Given the description of an element on the screen output the (x, y) to click on. 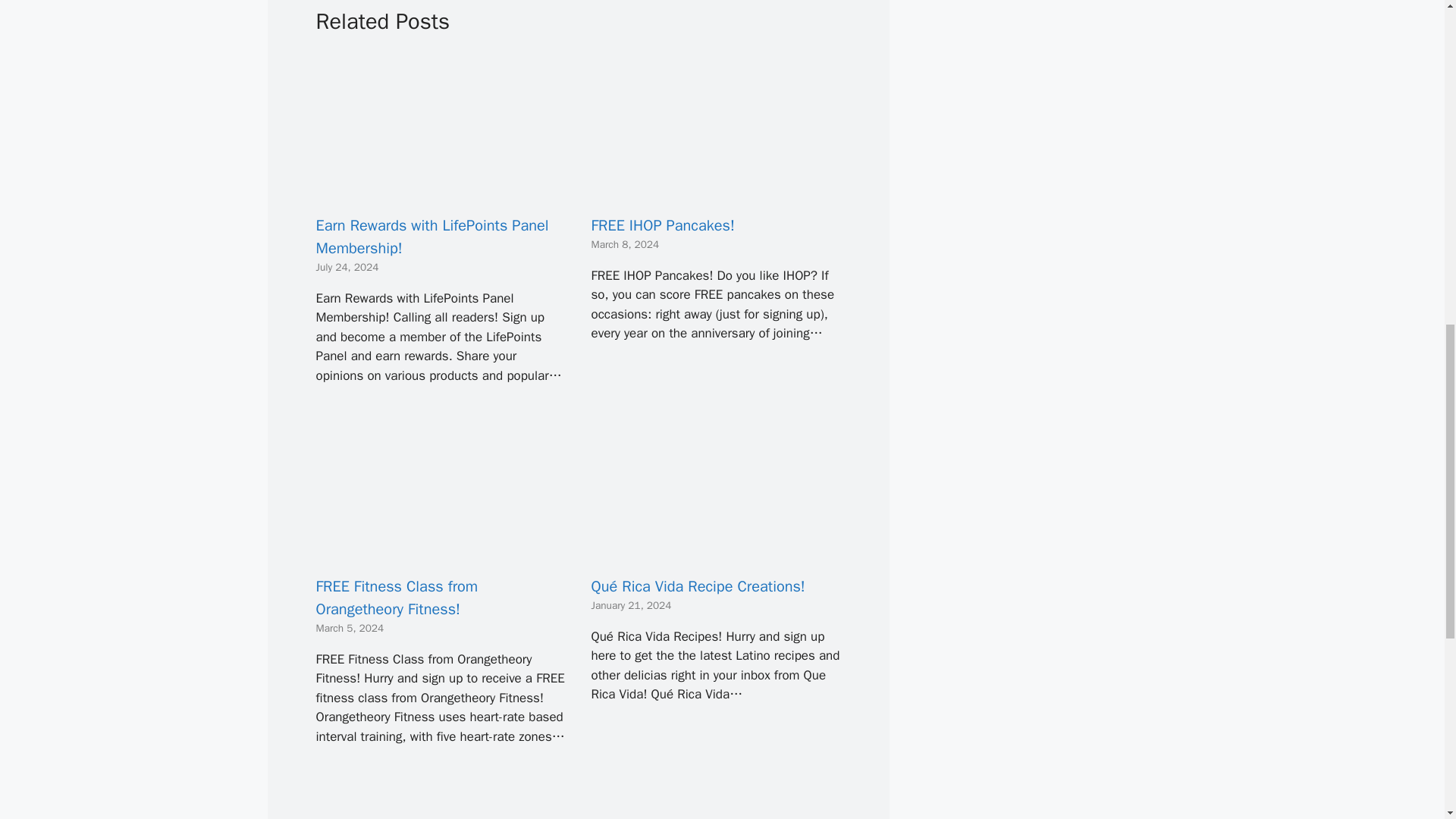
3:50 PM (631, 604)
Earn Rewards with LifePoints Panel Membership! (440, 191)
1:50 PM (625, 244)
FREE Fitness Class from Orangetheory Fitness! (440, 553)
2:50 PM (349, 627)
2:50 PM (346, 267)
FREE IHOP Pancakes! (716, 191)
